Given the description of an element on the screen output the (x, y) to click on. 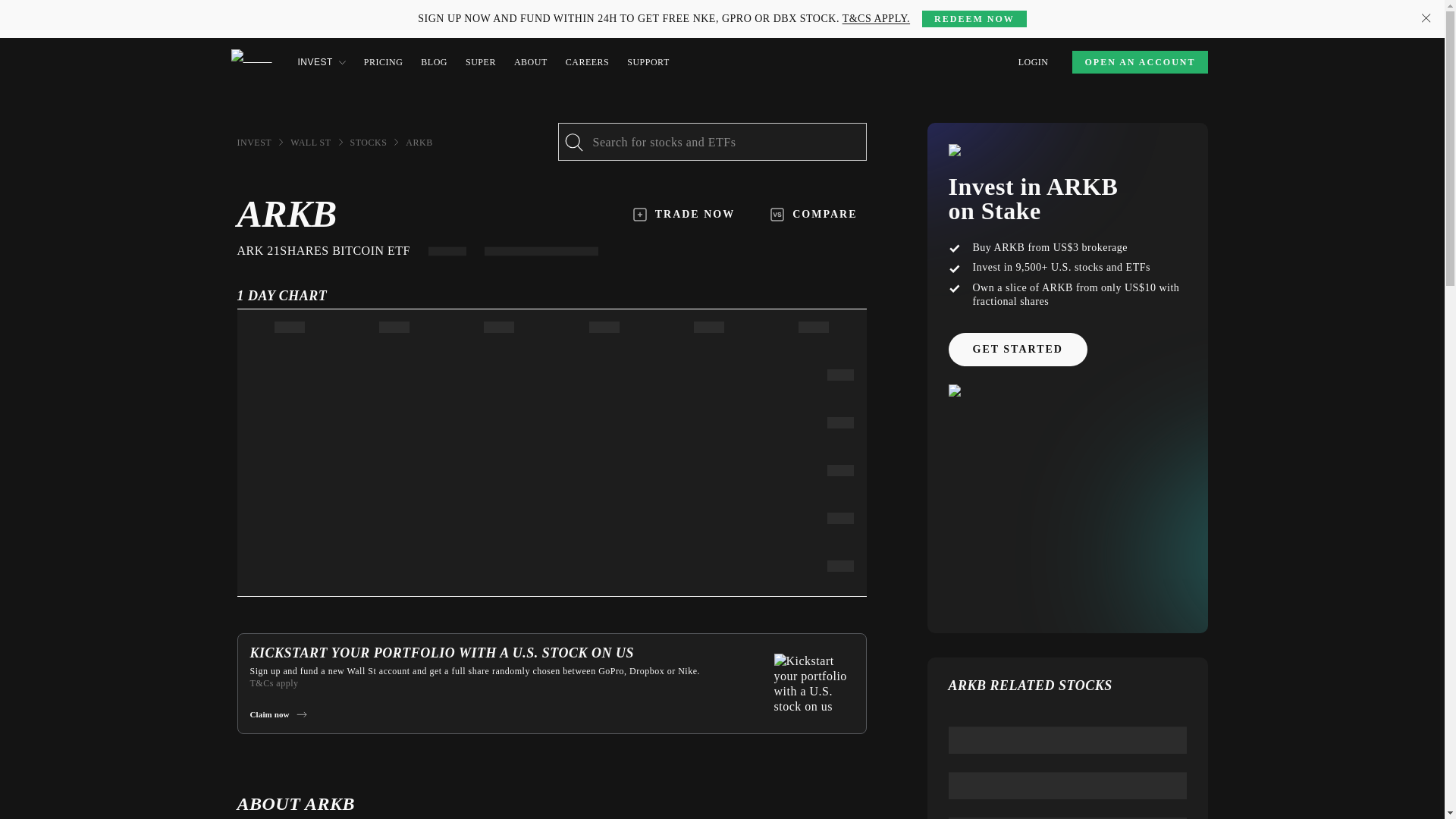
REDEEM NOW (973, 18)
LOGIN (1032, 61)
BLOG (433, 61)
PRICING (383, 61)
Learn more (341, 9)
SUPER (480, 61)
OPEN AN ACCOUNT (1139, 61)
TRADE NOW (684, 213)
Claim now (277, 714)
STOCKS (368, 142)
